Given the description of an element on the screen output the (x, y) to click on. 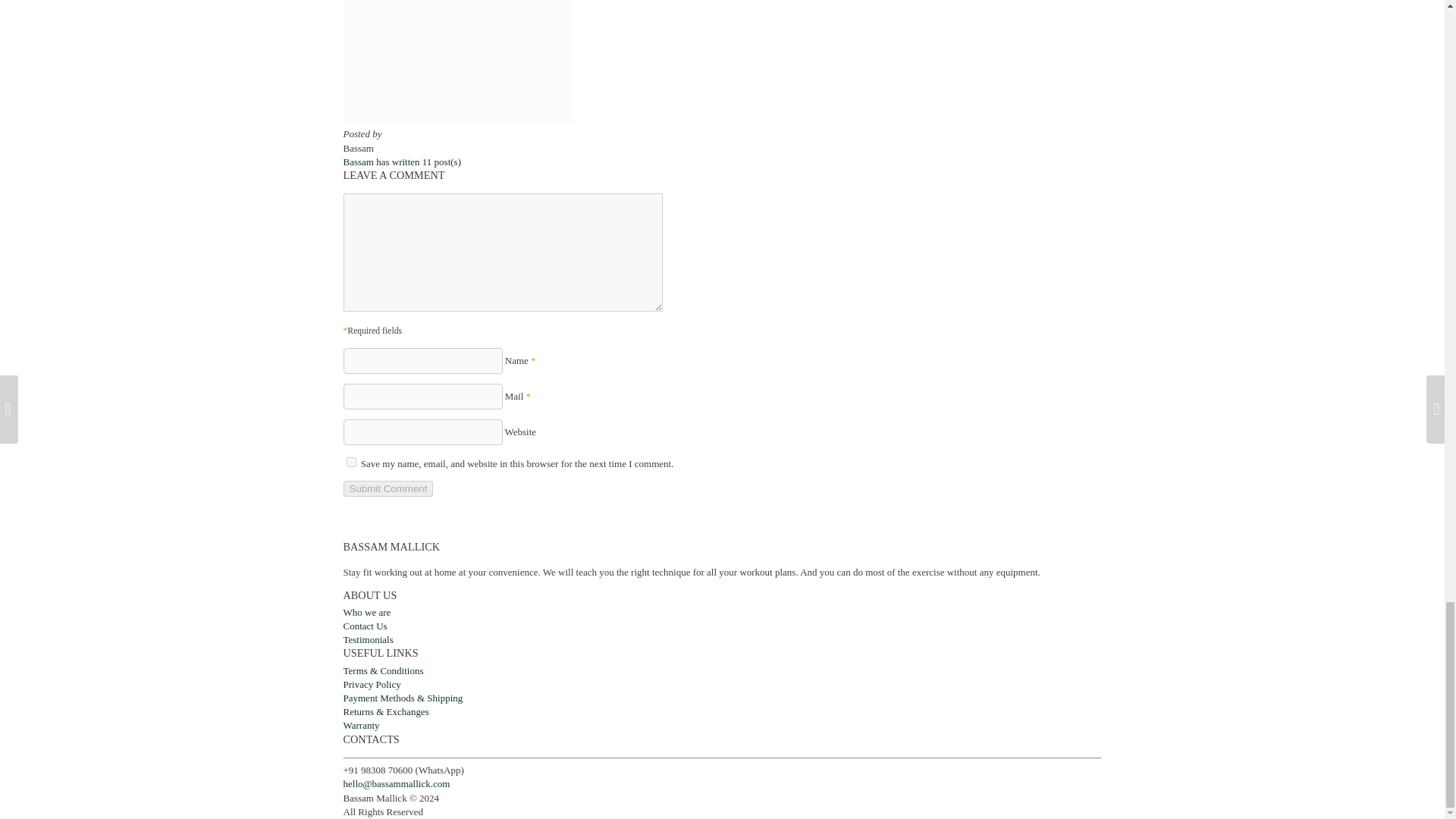
Submit Comment (387, 488)
yes (350, 461)
View all posts written by Bassam (401, 161)
Submit Comment (387, 488)
